Given the description of an element on the screen output the (x, y) to click on. 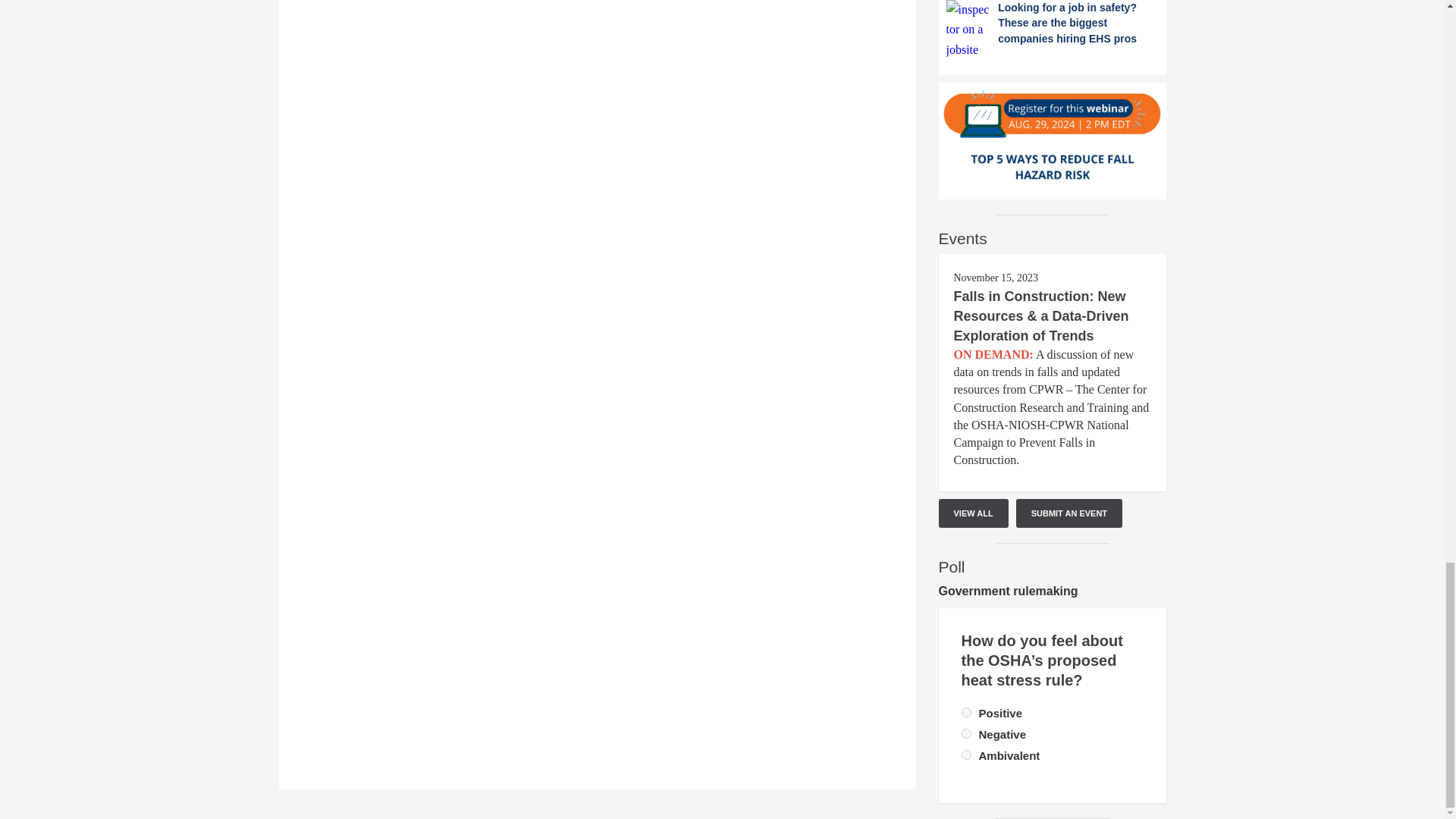
142 (965, 712)
144 (965, 755)
143 (965, 733)
